Given the description of an element on the screen output the (x, y) to click on. 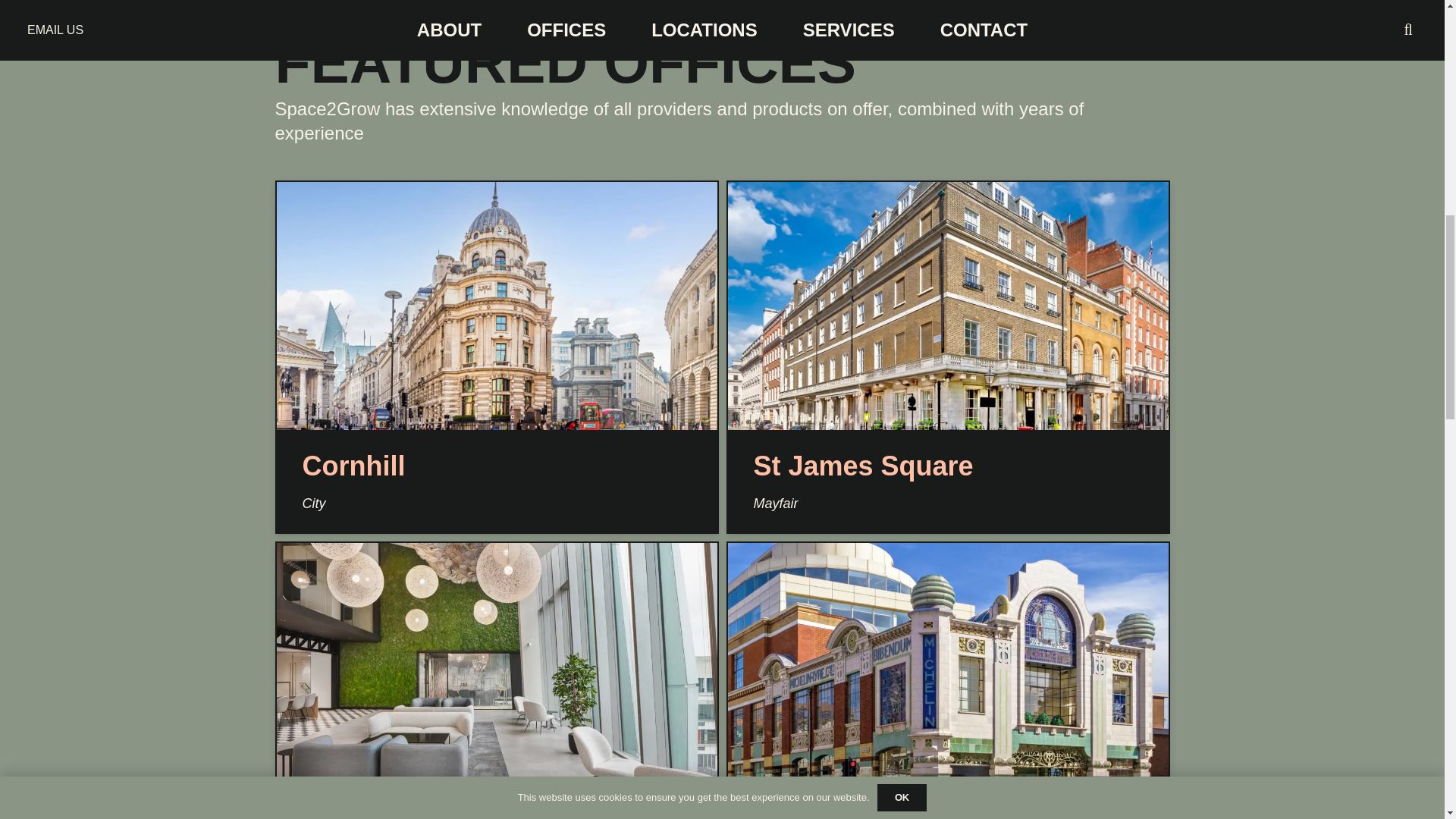
Michelin House (853, 815)
Nova North (374, 815)
Mayfair (775, 503)
City (312, 503)
Cornhill (352, 465)
St James Square (864, 465)
Back to top (1413, 26)
